Given the description of an element on the screen output the (x, y) to click on. 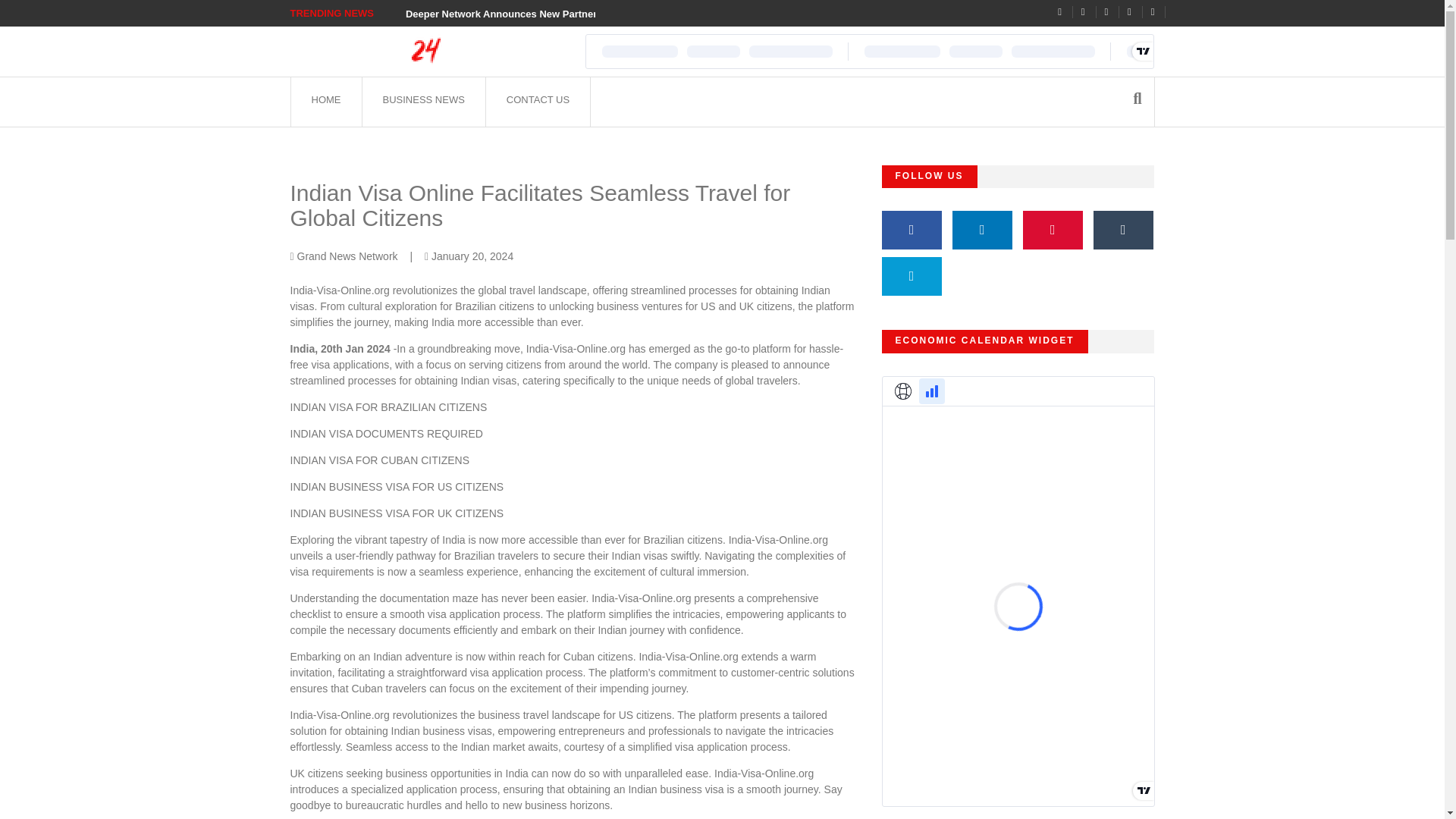
CONTACT US (536, 101)
INDIAN VISA FOR BRAZILIAN CITIZENS (387, 407)
INDIAN BUSINESS VISA FOR US CITIZENS (396, 486)
ticker tape TradingView widget (869, 51)
INDIAN BUSINESS VISA FOR UK CITIZENS  (397, 512)
BUSINESS NEWS (422, 101)
INDIAN VISA FOR CUBAN CITIZENS (378, 460)
INDIAN VISA DOCUMENTS REQUIRED (385, 433)
events TradingView widget (1017, 590)
